Given the description of an element on the screen output the (x, y) to click on. 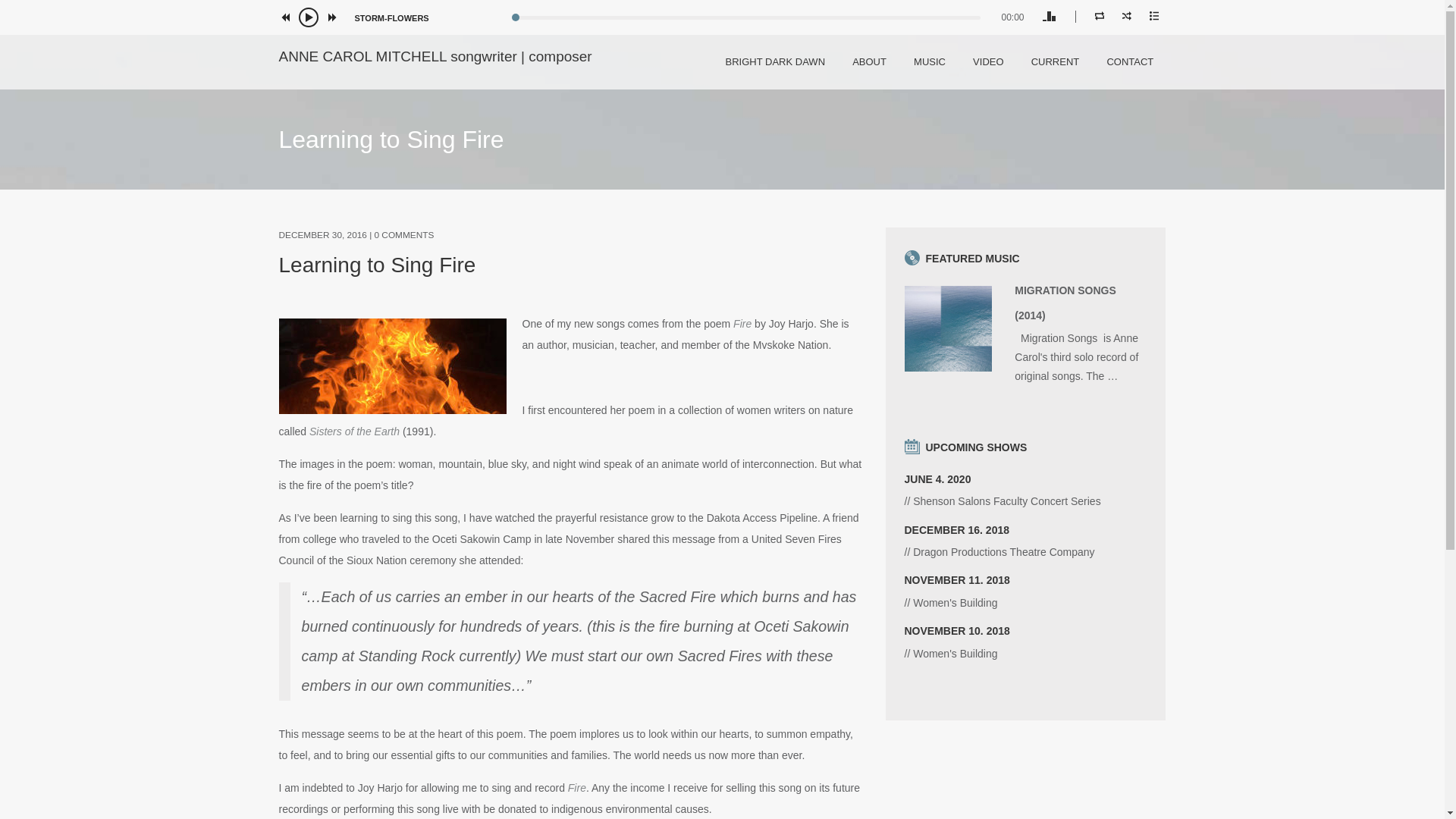
VIDEO (987, 60)
Romantic Songs of the Patriarchy (1025, 639)
BRIGHT DARK DAWN (775, 60)
CONTACT (1129, 60)
Lights in the Darkness-Creating to Heal (1025, 537)
CURRENT (1055, 60)
ABOUT (868, 60)
MUSIC (929, 60)
Romantic Songs of the Patriarchy (1025, 588)
